Given the description of an element on the screen output the (x, y) to click on. 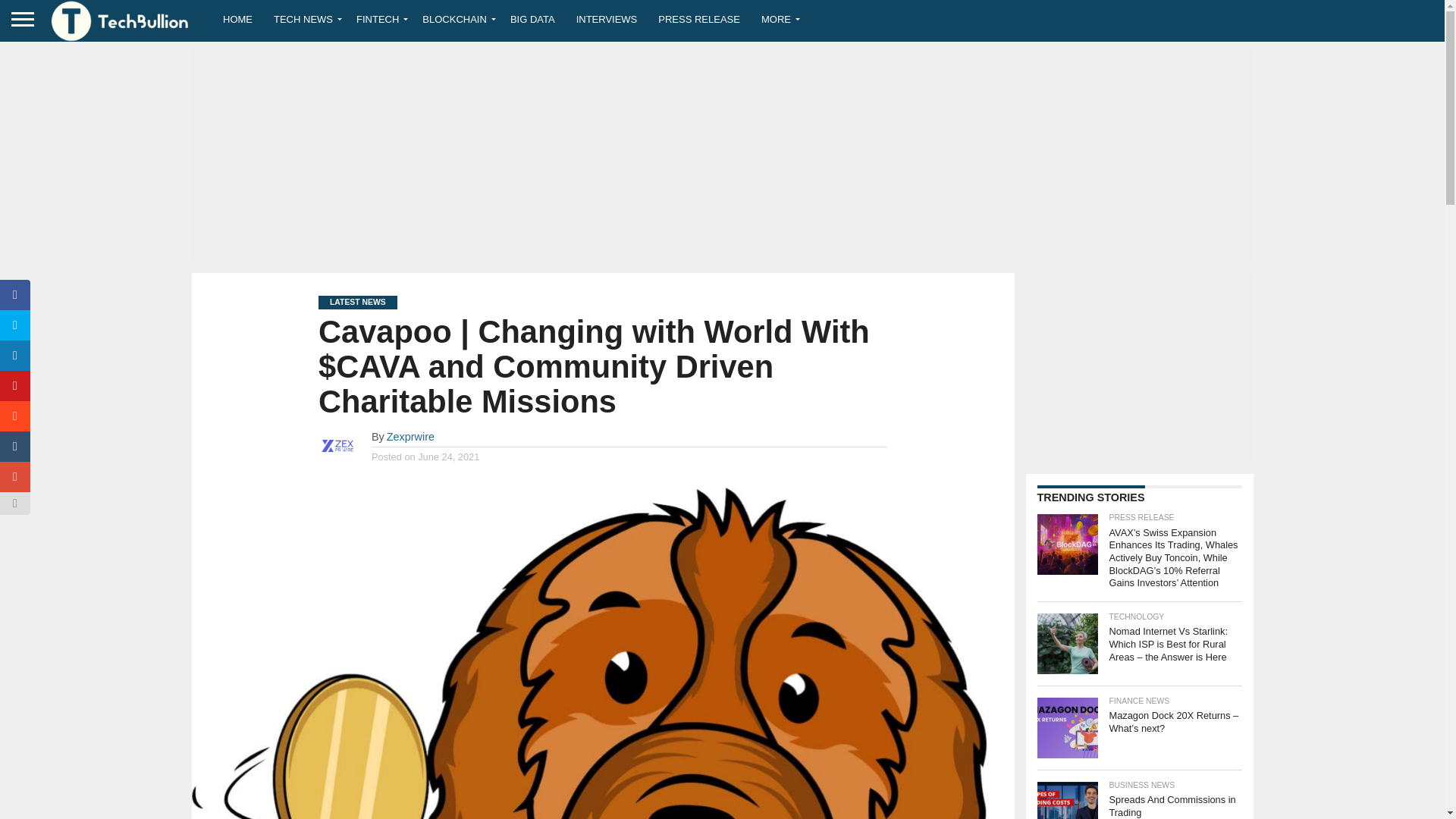
Posts by Zexprwire (410, 436)
Advertisement (1138, 367)
